Given the description of an element on the screen output the (x, y) to click on. 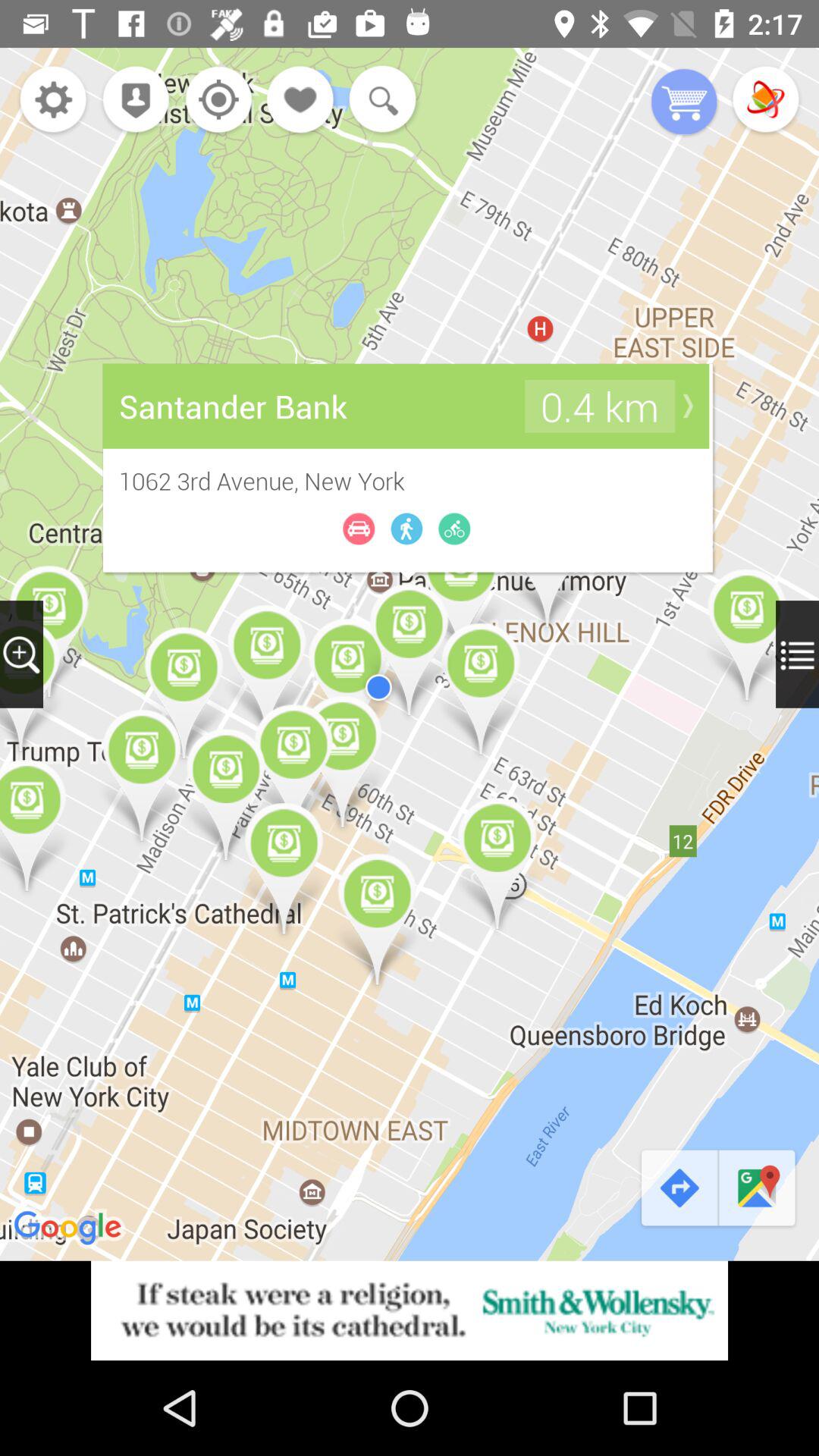
favorite place (300, 101)
